Given the description of an element on the screen output the (x, y) to click on. 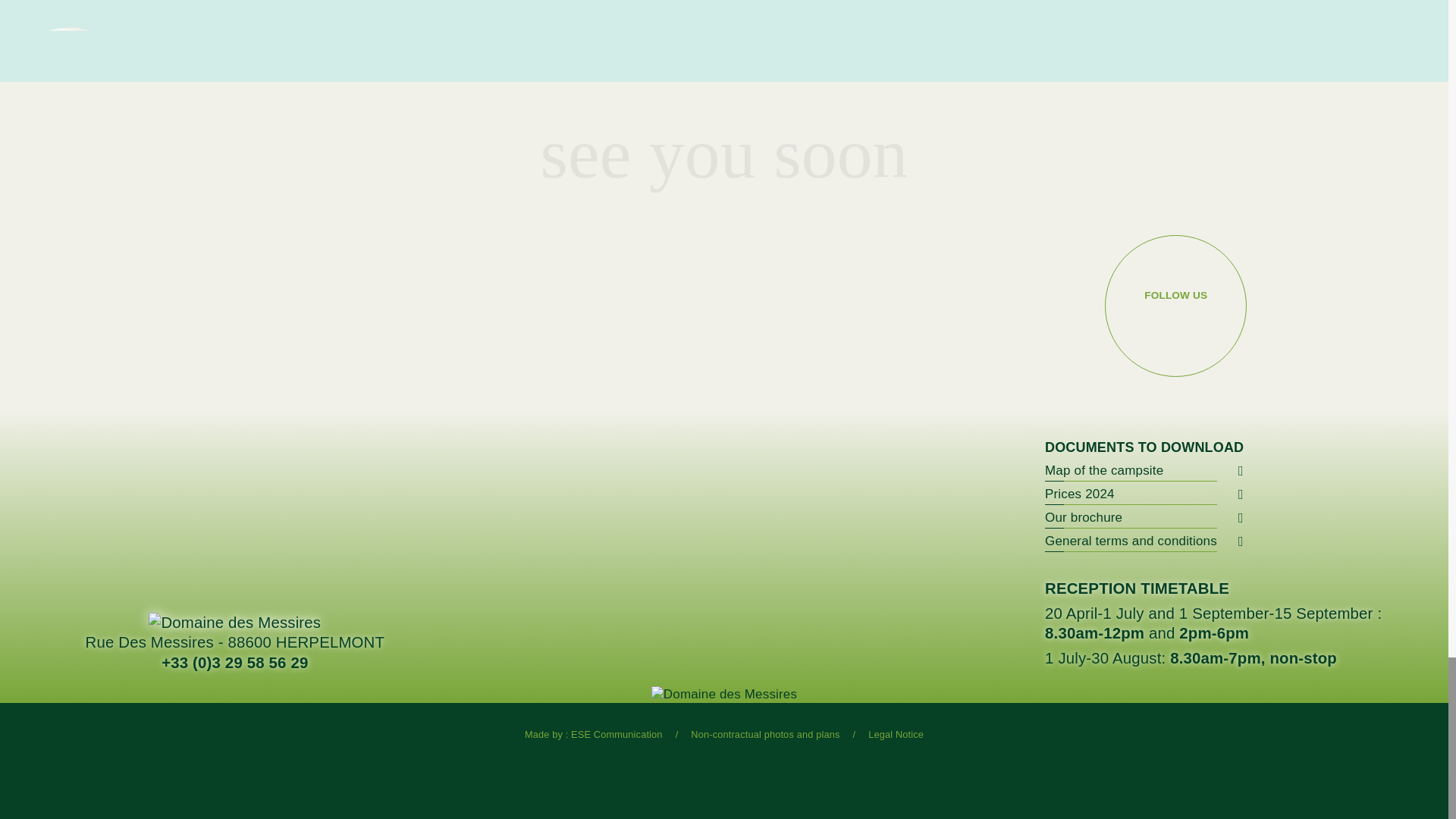
Our brochure (1131, 517)
General terms and conditions (1131, 541)
Map of the campsite (1131, 470)
Prices 2024 (1131, 494)
